Given the description of an element on the screen output the (x, y) to click on. 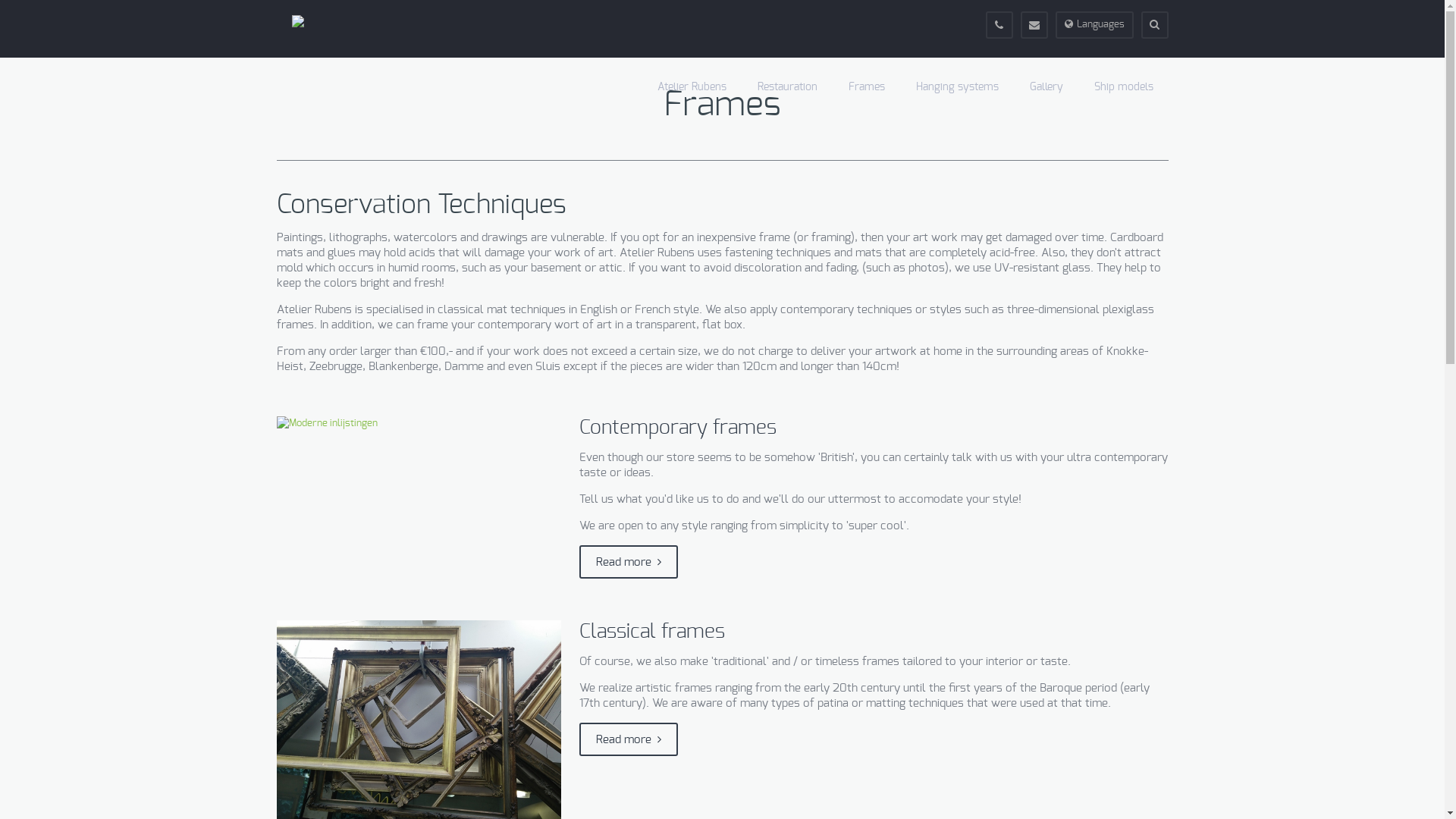
Atelier Rubens Element type: hover (297, 21)
Ship models Element type: text (1122, 87)
Gallery Element type: text (1046, 87)
Languages Element type: text (1094, 24)
Read more   Element type: text (628, 739)
Atelier Rubens Element type: text (690, 87)
Hanging systems Element type: text (956, 87)
Restauration Element type: text (786, 87)
Frames Element type: text (865, 87)
Read more   Element type: text (628, 561)
